Given the description of an element on the screen output the (x, y) to click on. 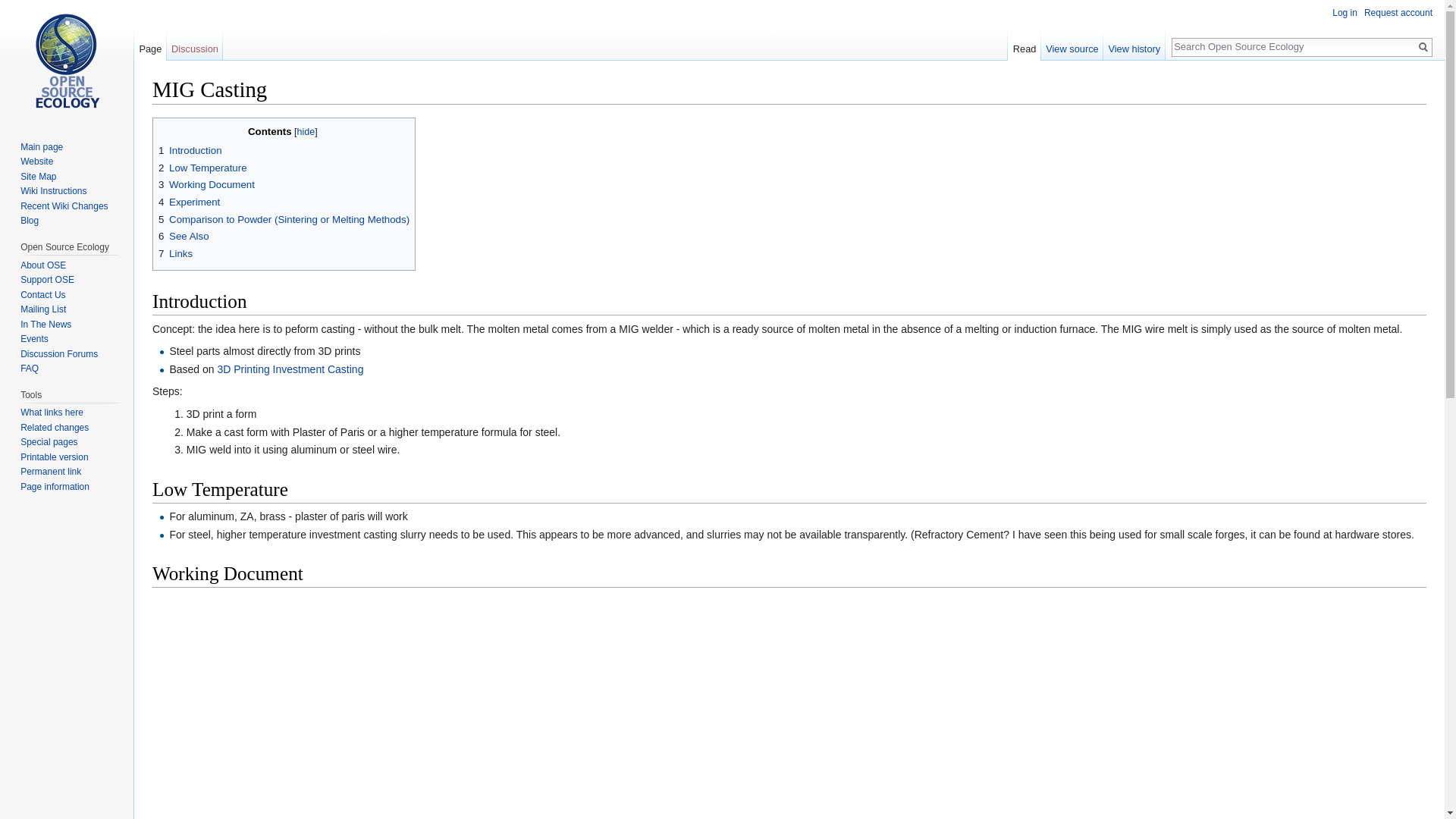
In The News (45, 324)
View history (1134, 45)
About OSE (42, 265)
4 Experiment (188, 202)
Log in (1344, 12)
Contact Us (42, 294)
Blog (29, 220)
Support OSE (47, 279)
hide (306, 131)
Read (1024, 45)
